Given the description of an element on the screen output the (x, y) to click on. 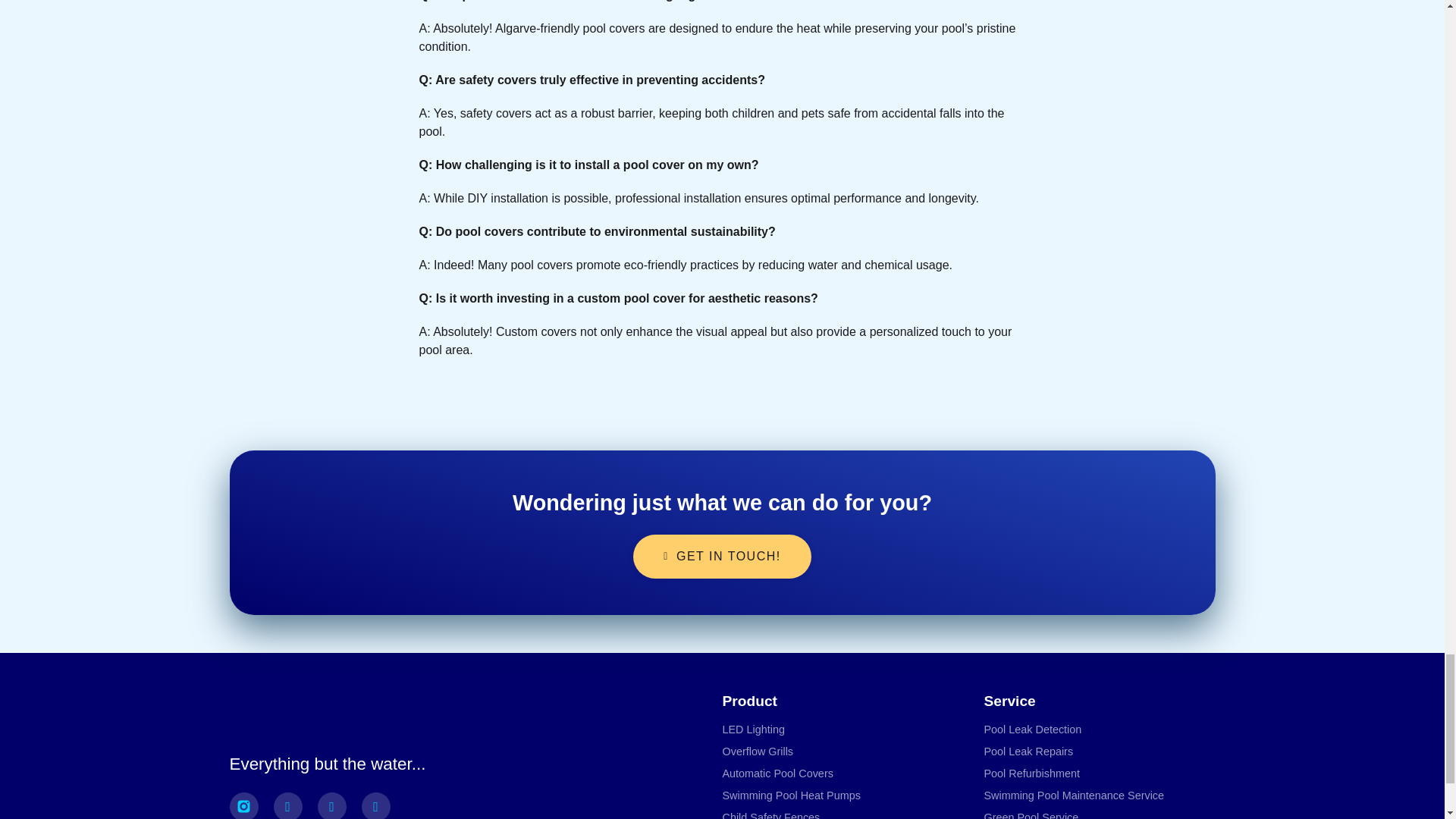
GET IN TOUCH! (721, 556)
LED Lighting (753, 728)
Automatic Pool Covers (777, 772)
Overflow Grills (757, 750)
